Given the description of an element on the screen output the (x, y) to click on. 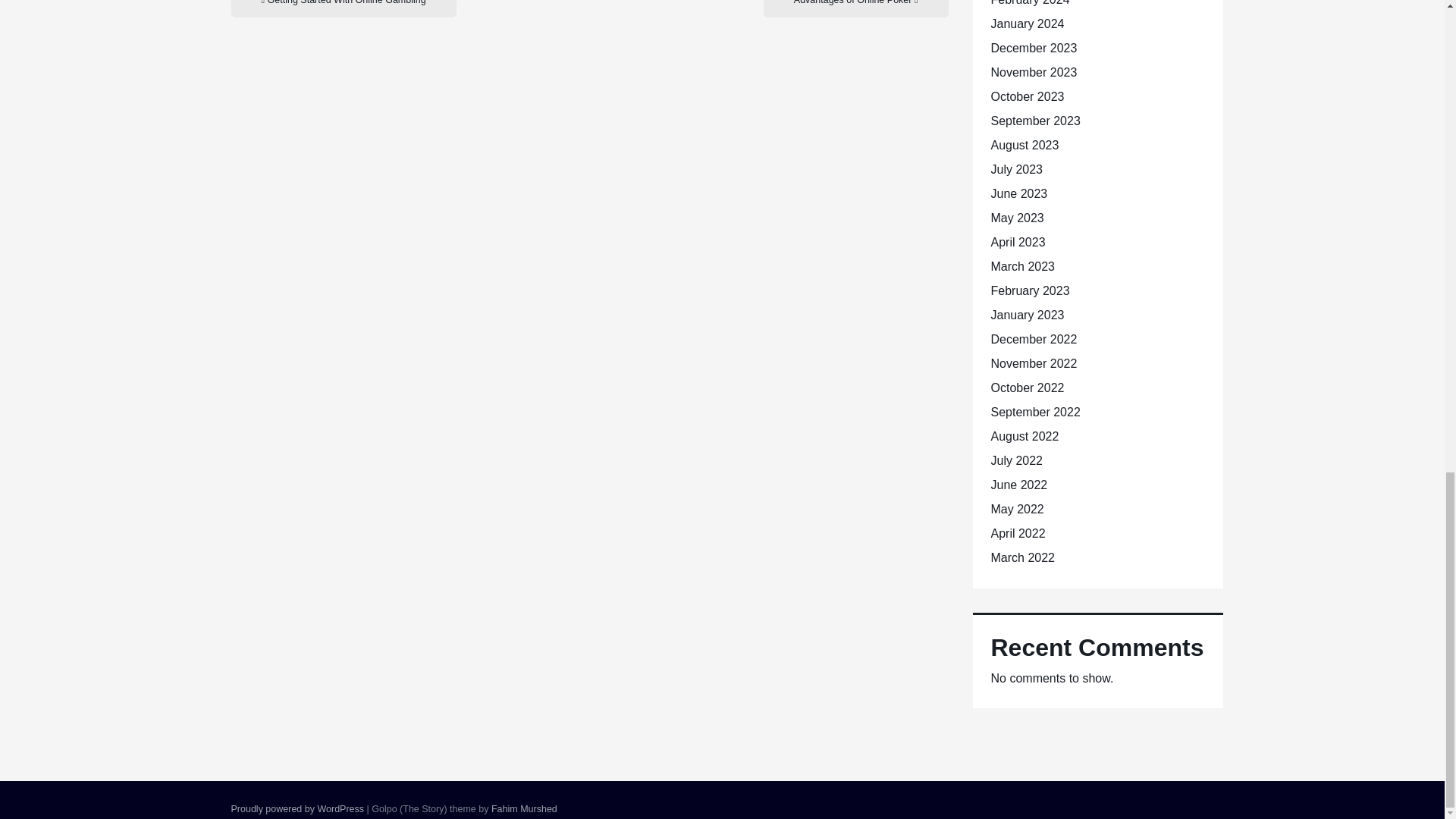
December 2023 (1033, 47)
February 2023 (1029, 290)
January 2024 (1027, 23)
February 2024 (1029, 2)
August 2023 (1024, 144)
Advantages of Online Poker (855, 8)
September 2023 (1035, 120)
October 2023 (1027, 96)
December 2022 (1033, 338)
April 2023 (1017, 241)
